Given the description of an element on the screen output the (x, y) to click on. 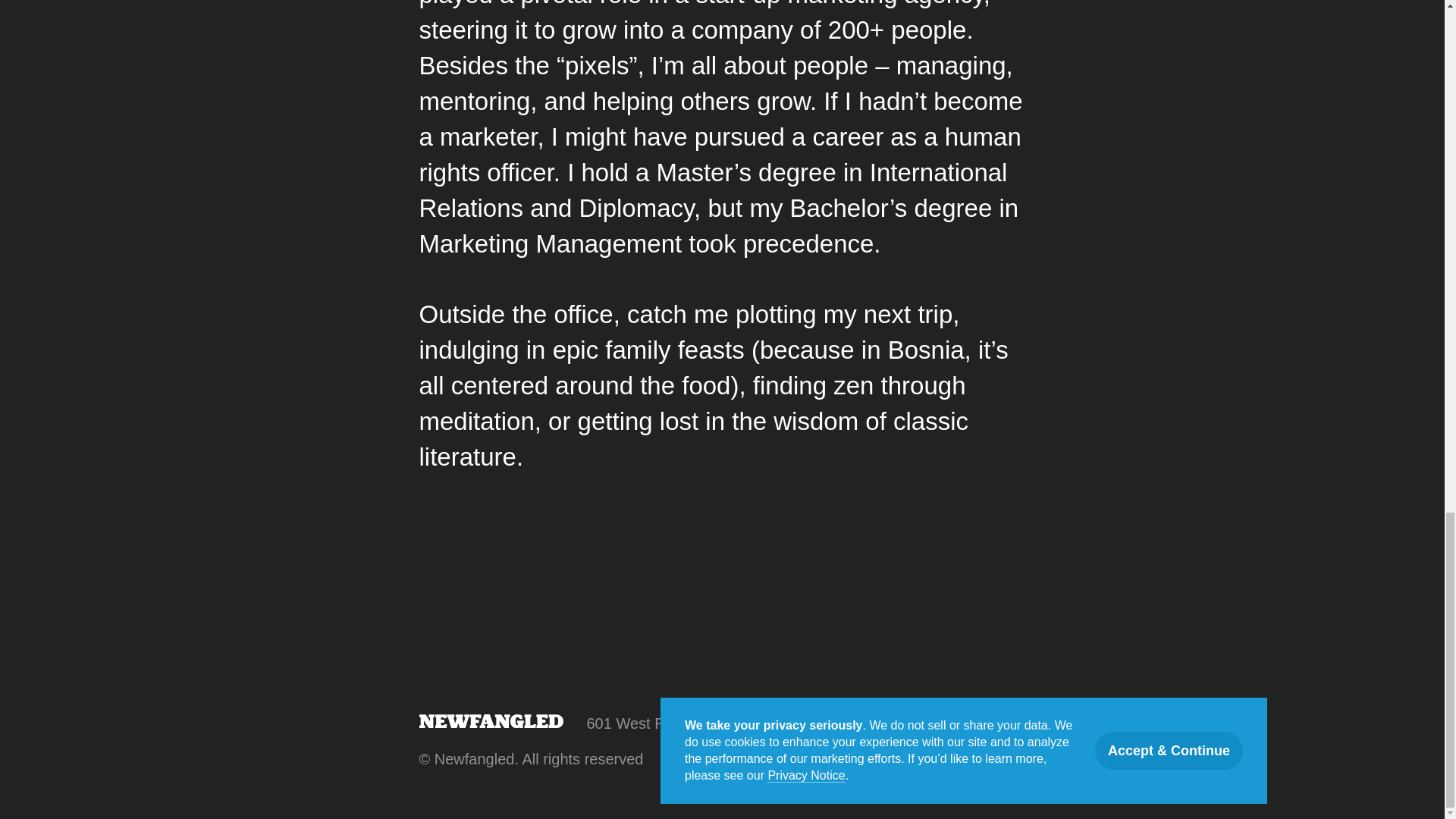
Newfangled (490, 720)
Privacy Notice (711, 759)
